Given the description of an element on the screen output the (x, y) to click on. 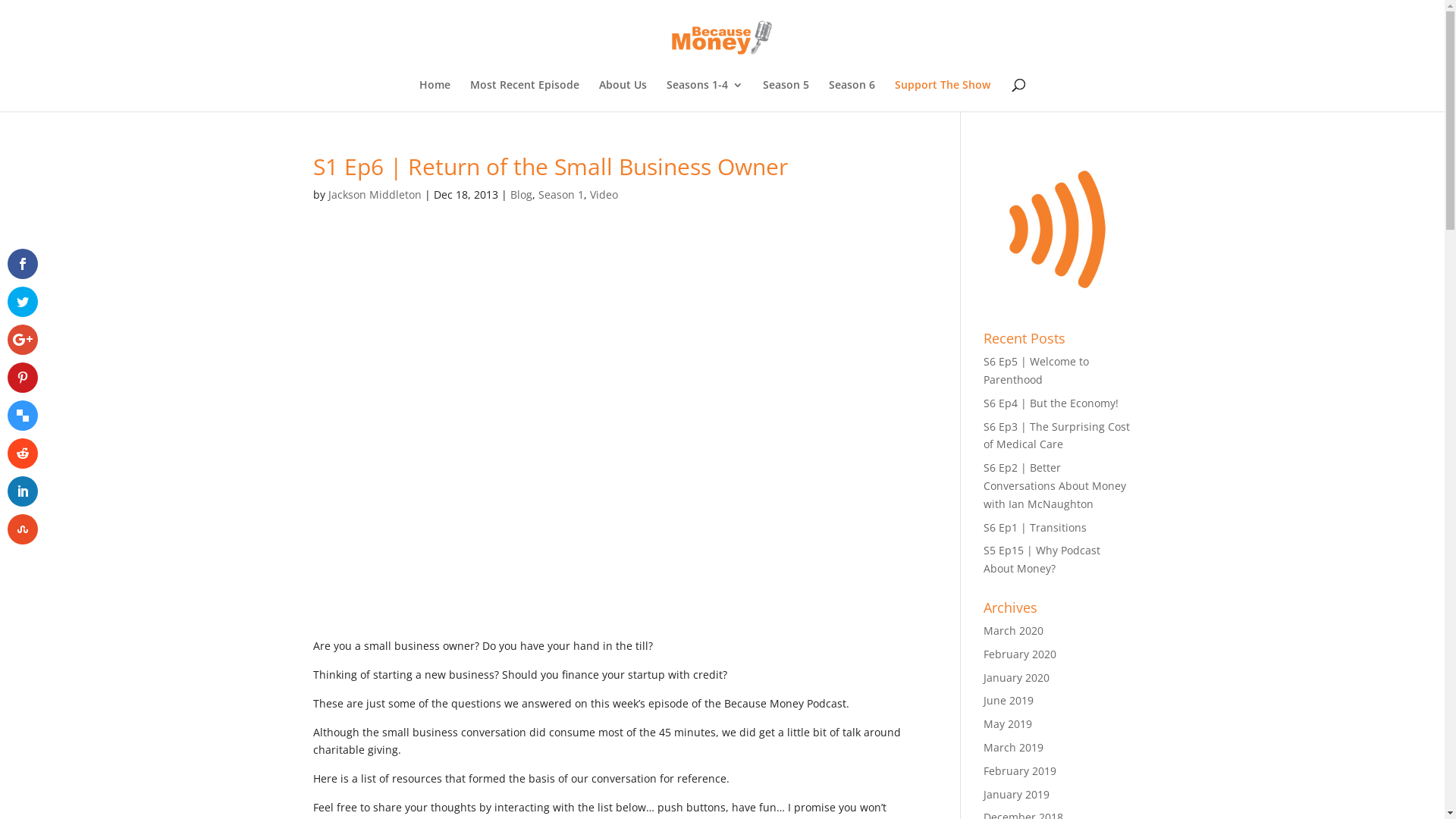
S1 Ep6 | Return of the Small Business Owner Element type: hover (613, 451)
Home Element type: text (434, 95)
Seasons 1-4 Element type: text (704, 95)
Support The Show Element type: text (942, 95)
January 2019 Element type: text (1016, 794)
Video Element type: text (603, 194)
January 2020 Element type: text (1016, 677)
Season 1 Element type: text (560, 194)
February 2020 Element type: text (1019, 653)
Season 6 Element type: text (851, 95)
Most Recent Episode Element type: text (524, 95)
Season 5 Element type: text (785, 95)
Blog Element type: text (520, 194)
S6 Ep5 | Welcome to Parenthood Element type: text (1035, 370)
February 2019 Element type: text (1019, 770)
S6 Ep4 | But the Economy! Element type: text (1050, 402)
S5 Ep15 | Why Podcast About Money? Element type: text (1041, 558)
May 2019 Element type: text (1007, 723)
S6 Ep3 | The Surprising Cost of Medical Care Element type: text (1056, 435)
March 2019 Element type: text (1013, 747)
About Us Element type: text (622, 95)
Jackson Middleton Element type: text (373, 194)
March 2020 Element type: text (1013, 630)
S6 Ep1 | Transitions Element type: text (1034, 527)
June 2019 Element type: text (1008, 700)
